Given the description of an element on the screen output the (x, y) to click on. 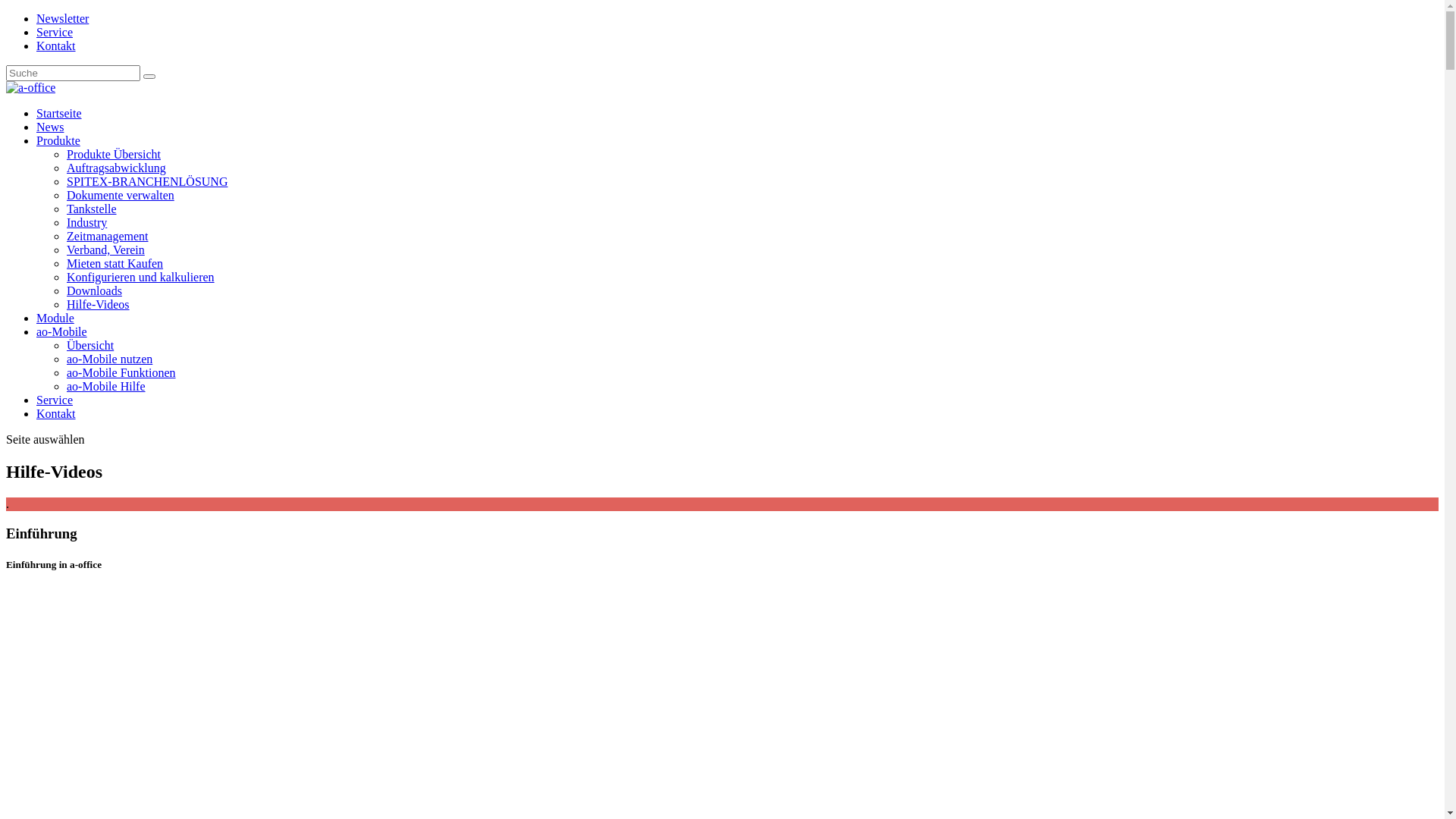
Newsletter Element type: text (62, 18)
ao-Mobile nutzen Element type: text (109, 358)
Service Element type: text (54, 399)
Suchen nach: Element type: hover (73, 73)
Dokumente verwalten Element type: text (120, 194)
Startseite Element type: text (58, 112)
ao-Mobile Element type: text (61, 331)
Zeitmanagement Element type: text (107, 235)
Industry Element type: text (86, 222)
News Element type: text (49, 126)
Downloads Element type: text (94, 290)
Kontakt Element type: text (55, 45)
Hilfe-Videos Element type: text (97, 304)
Verband, Verein Element type: text (105, 249)
ao-Mobile Funktionen Element type: text (120, 372)
Produkte Element type: text (58, 140)
Konfigurieren und kalkulieren Element type: text (140, 276)
Auftragsabwicklung Element type: text (116, 167)
Service Element type: text (54, 31)
Tankstelle Element type: text (91, 208)
Mieten statt Kaufen Element type: text (114, 263)
Kontakt Element type: text (55, 413)
ao-Mobile Hilfe Element type: text (105, 385)
Module Element type: text (55, 317)
